Given the description of an element on the screen output the (x, y) to click on. 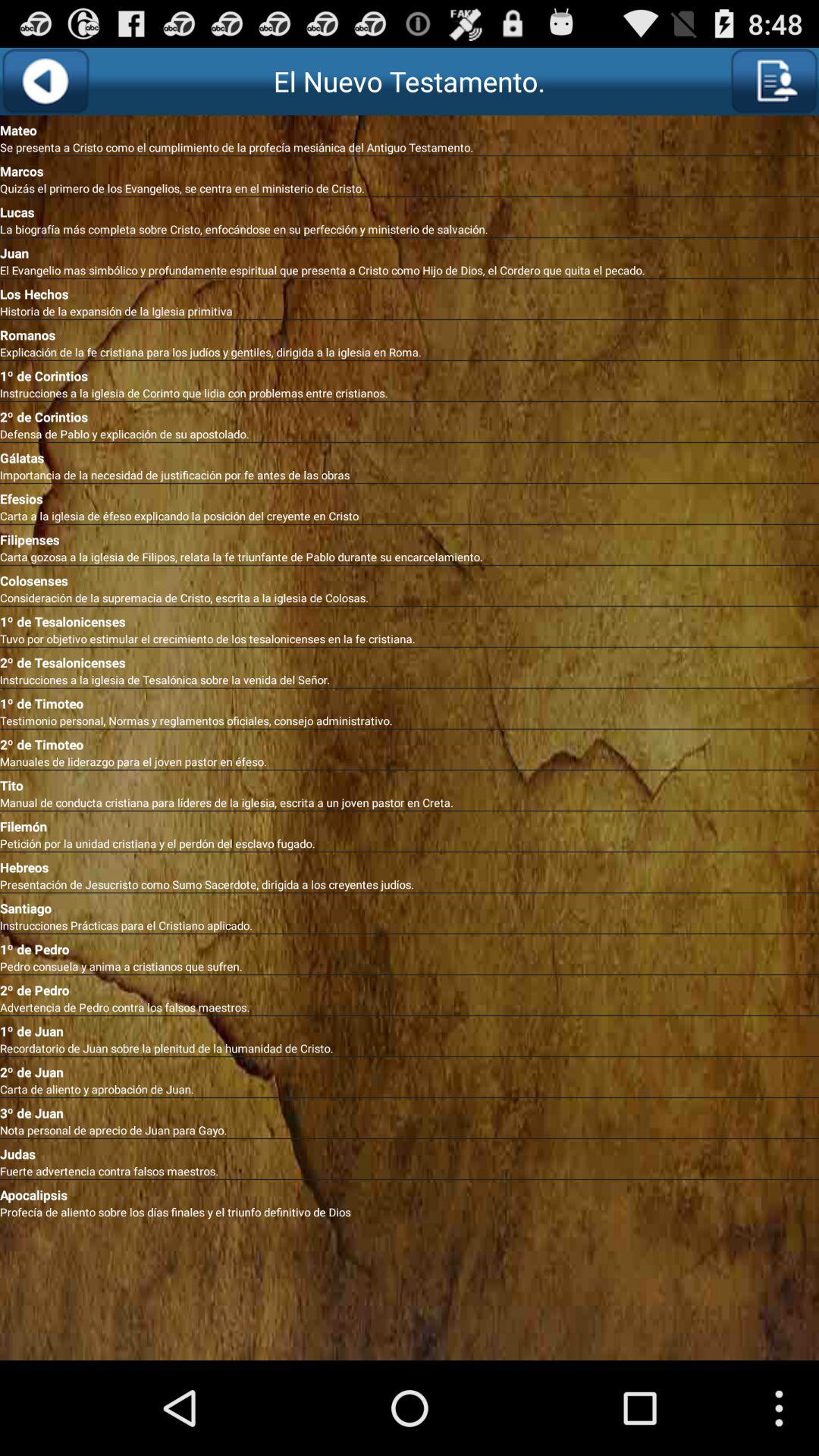
turn off the app above historia de la (409, 291)
